Given the description of an element on the screen output the (x, y) to click on. 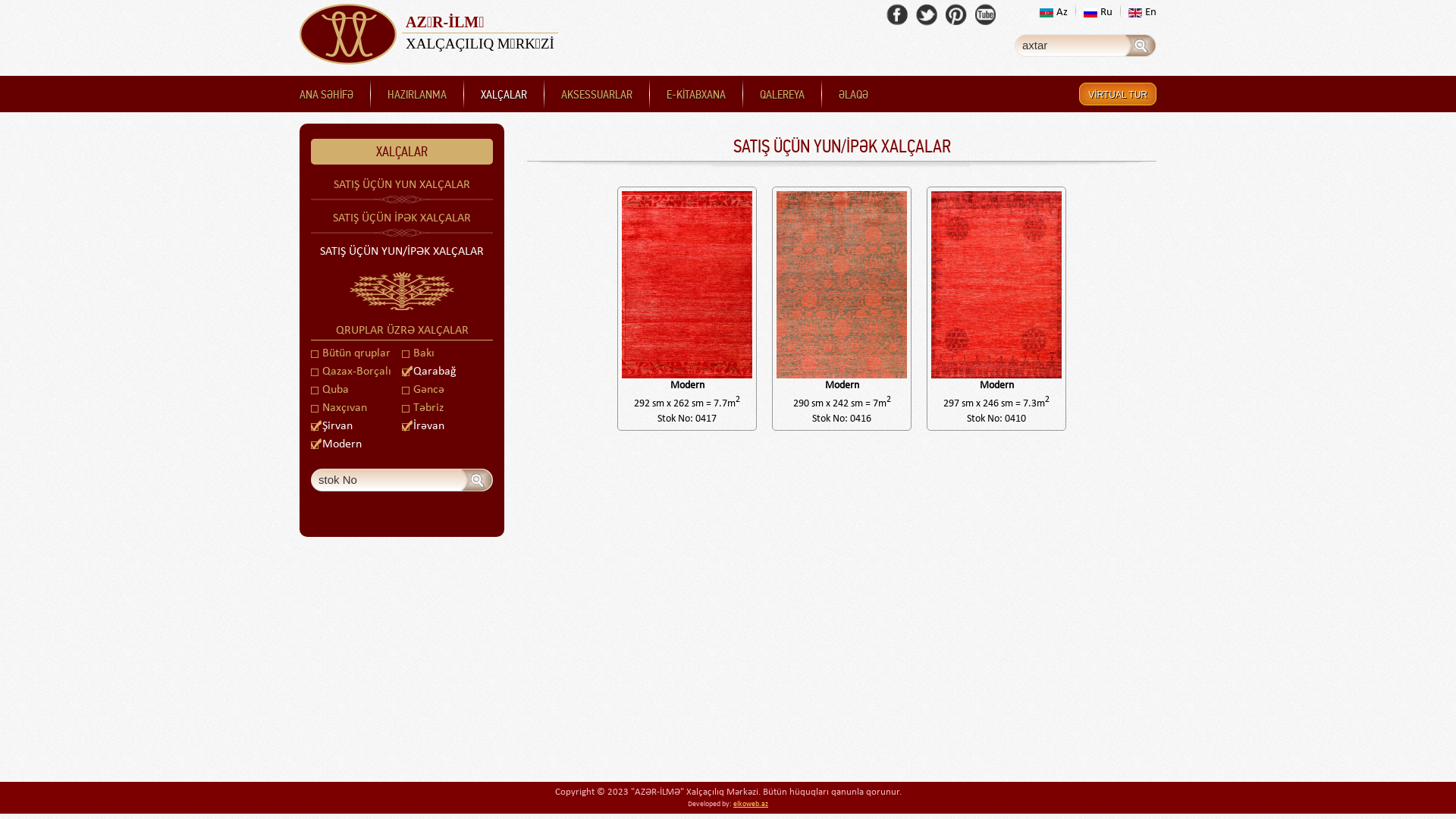
Az Element type: text (1053, 12)
Modern Element type: text (687, 308)
Modern Element type: text (841, 308)
elkoweb.az Element type: text (750, 804)
Quba Element type: text (329, 389)
Modern Element type: text (335, 444)
Modern Element type: text (996, 308)
AKSESSUARLAR Element type: text (596, 94)
QALEREYA Element type: text (782, 94)
Twitter Element type: text (927, 14)
axtar Element type: hover (1140, 45)
Youtube Element type: text (986, 14)
En Element type: text (1142, 12)
HAZIRLANMA Element type: text (416, 94)
axtar Element type: hover (476, 479)
Facebook Element type: text (897, 14)
Ru Element type: text (1097, 12)
